Given the description of an element on the screen output the (x, y) to click on. 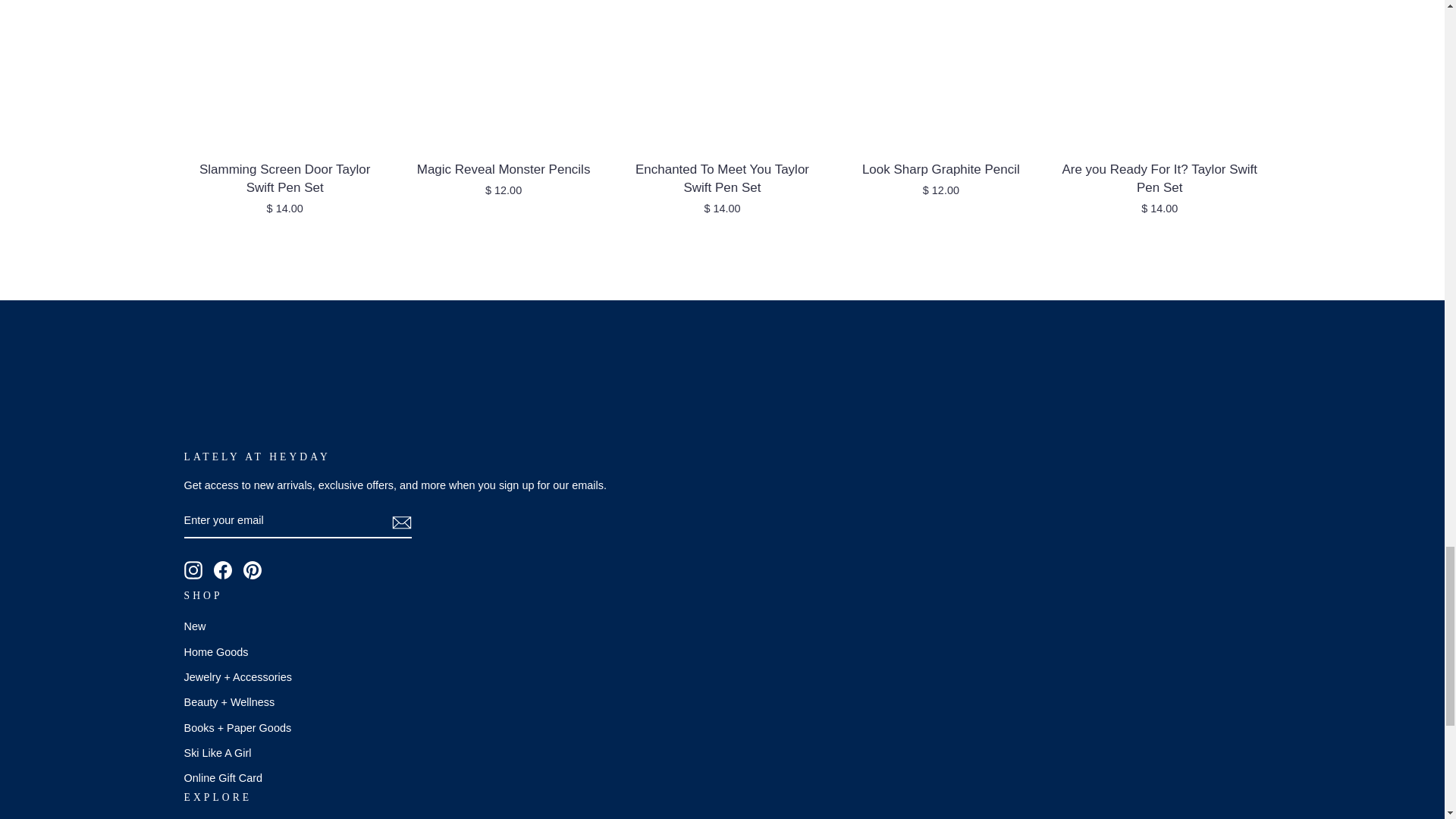
Heyday on Instagram (192, 570)
instagram (192, 570)
Heyday on Facebook (222, 570)
icon-email (400, 522)
Heyday on Pinterest (251, 570)
